Given the description of an element on the screen output the (x, y) to click on. 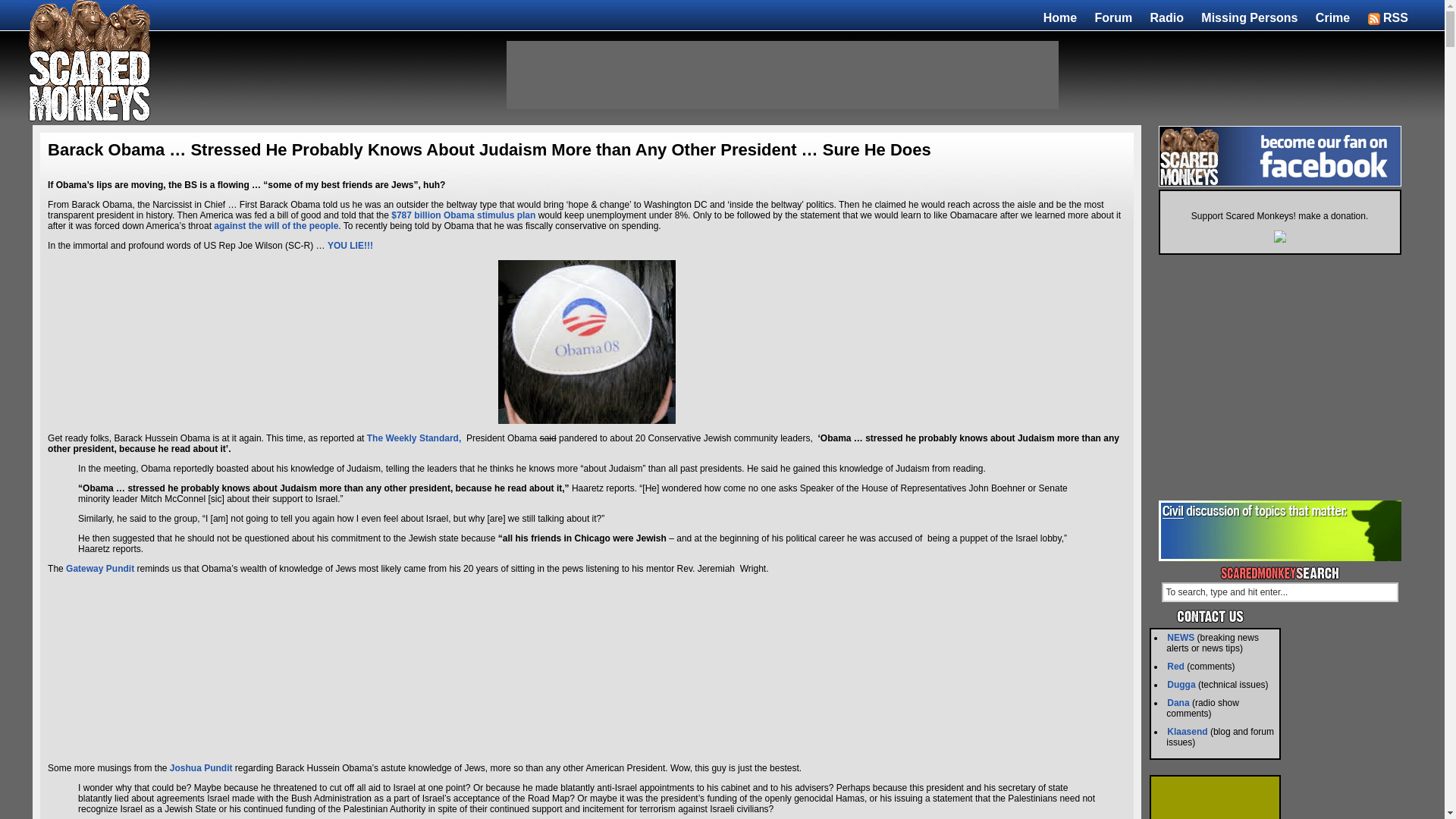
against the will of the people (275, 225)
 RSS (1387, 17)
NEWS (1180, 637)
Forum (1113, 17)
The Weekly Standard, (412, 438)
Joshua Pundit (201, 767)
Crime (1331, 17)
To search, type and hit enter... (1279, 591)
Gateway Pundit (99, 568)
Missing Persons (1248, 17)
Home (1059, 17)
Radio (1166, 17)
YOU LIE!!! (349, 245)
